Given the description of an element on the screen output the (x, y) to click on. 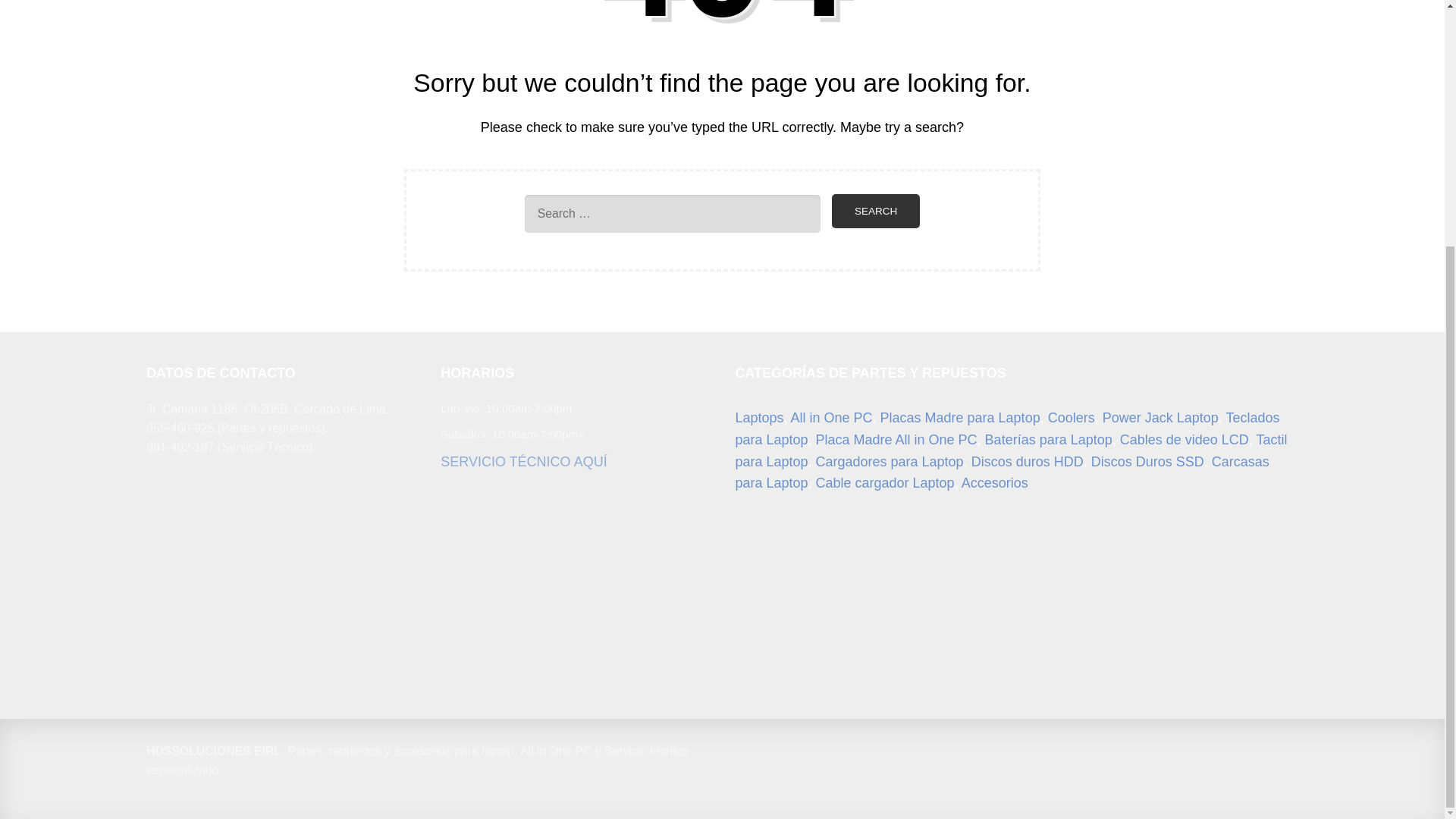
Coolers (1071, 417)
Cables de video LCD (1184, 439)
All in One PC (831, 417)
Search (875, 211)
Placas Madre para Laptop (960, 417)
Placa Madre All in One PC (895, 439)
Search (875, 211)
Search (875, 211)
Laptops (759, 417)
Power Jack Laptop (1160, 417)
